Given the description of an element on the screen output the (x, y) to click on. 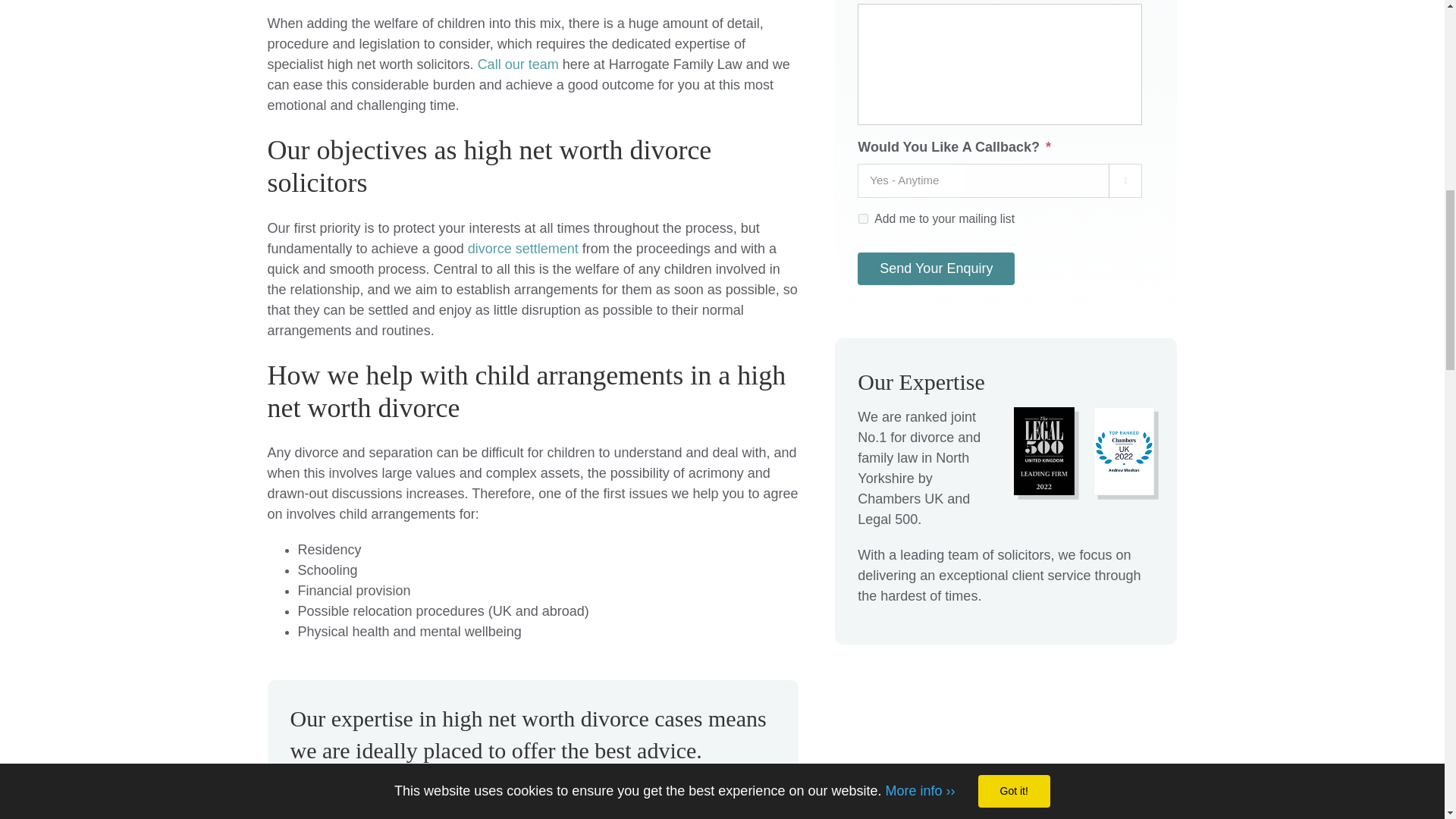
Send Your Enquiry (935, 268)
1 (863, 218)
